Given the description of an element on the screen output the (x, y) to click on. 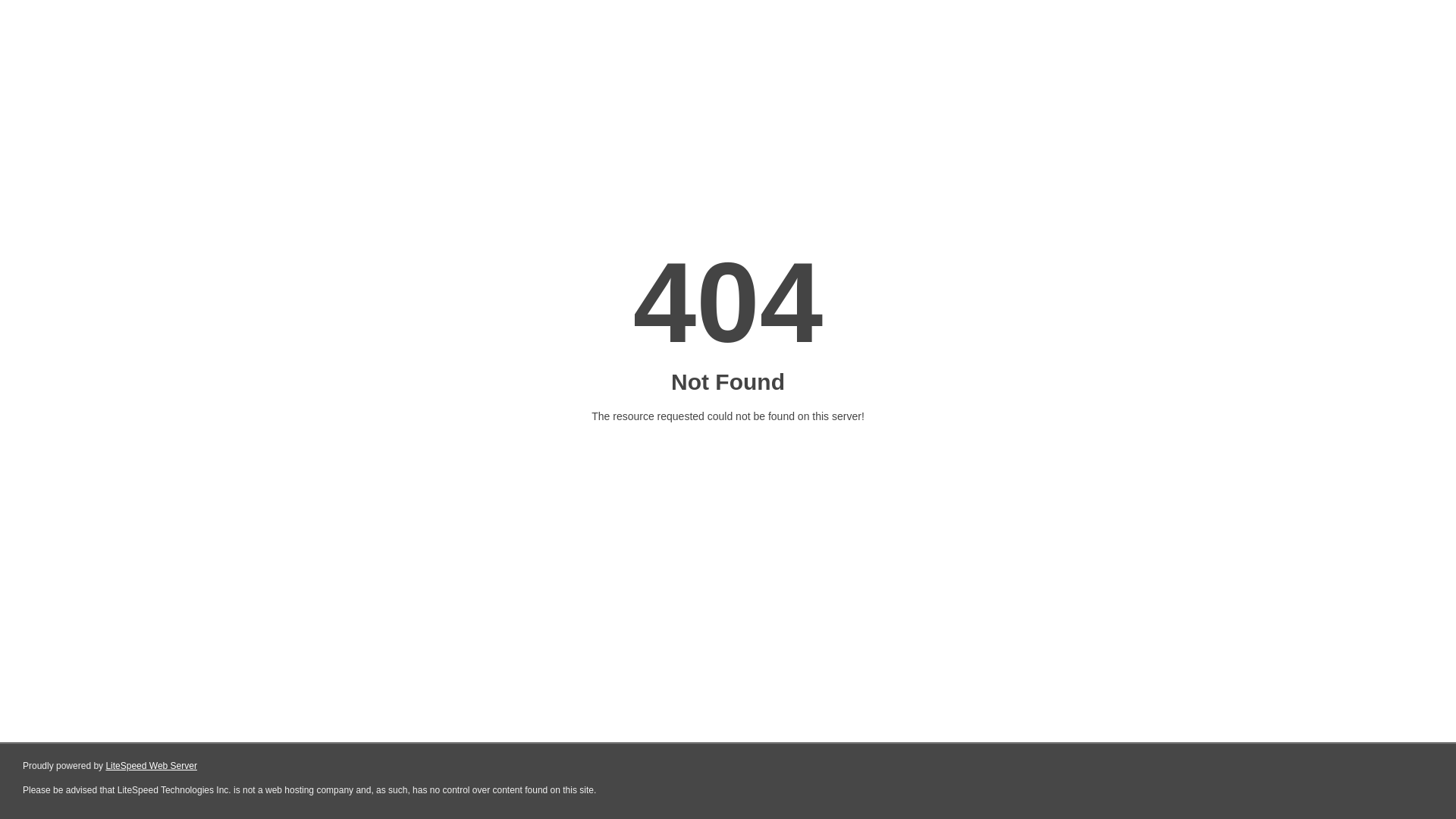
LiteSpeed Web Server Element type: text (151, 765)
